Given the description of an element on the screen output the (x, y) to click on. 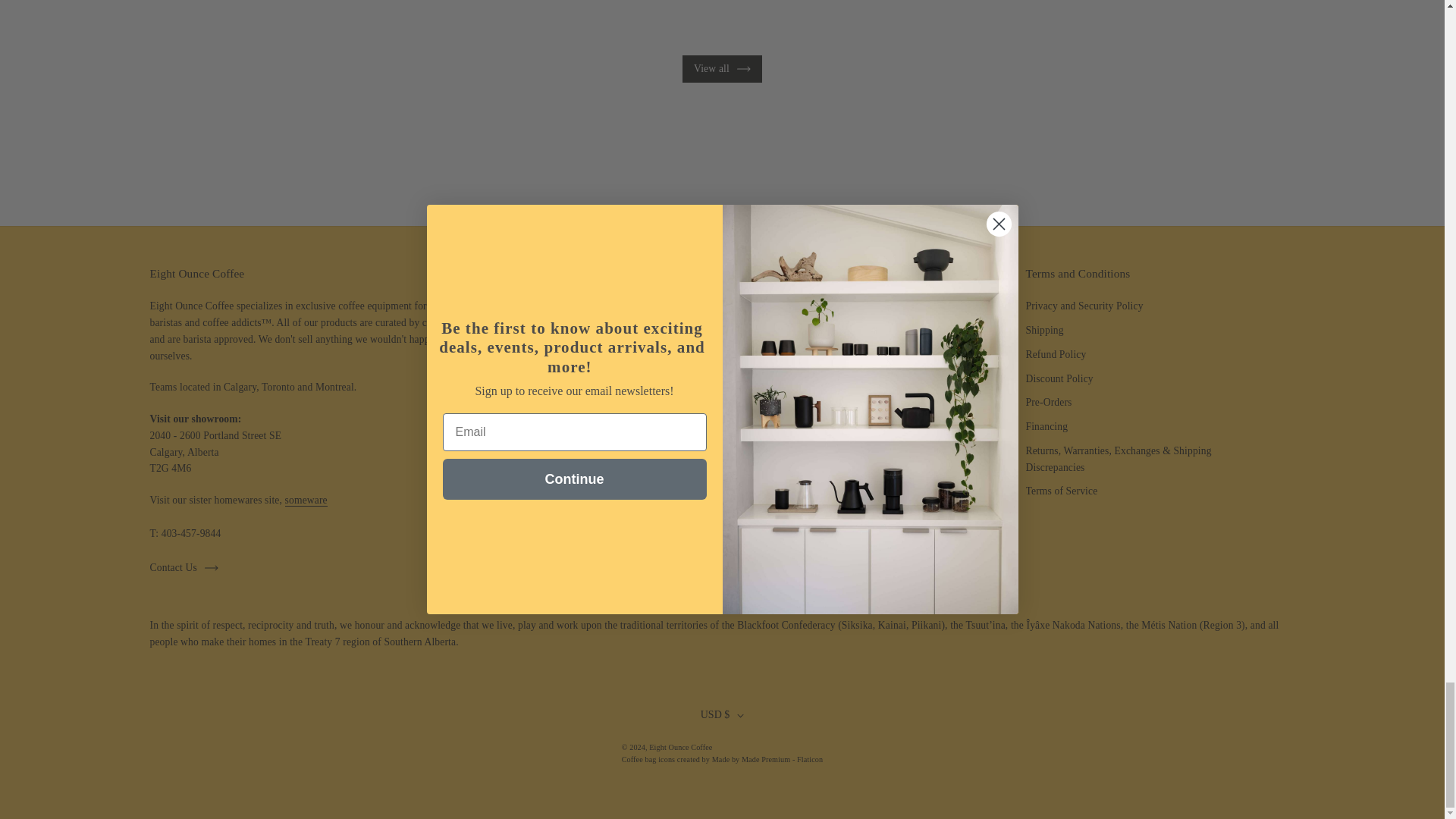
coffee bag icons (722, 759)
someware homewares (306, 500)
